Given the description of an element on the screen output the (x, y) to click on. 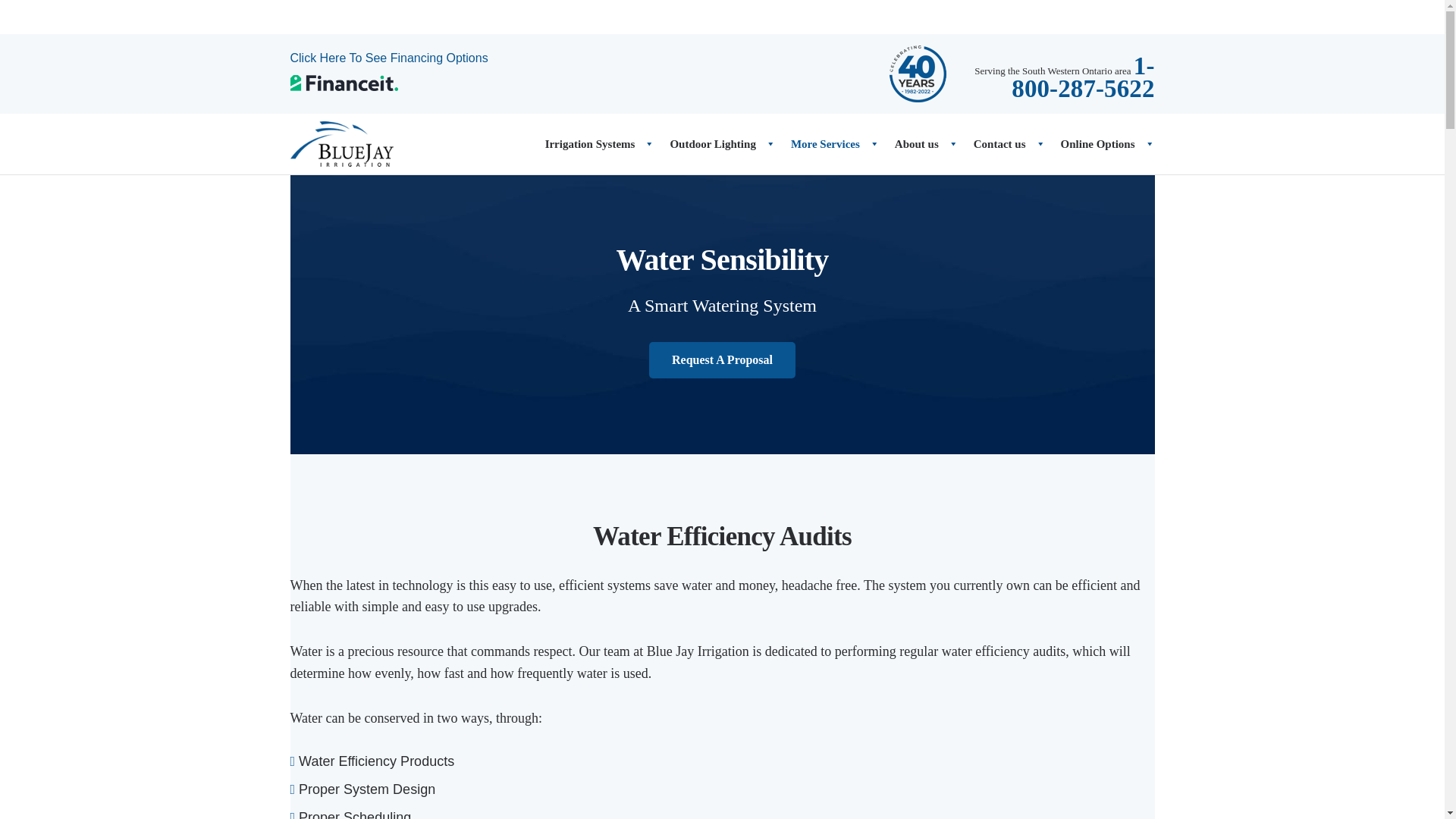
1-800-287-5622 (1082, 82)
Outdoor Lighting (714, 143)
Irrigation Systems (592, 143)
More Services (827, 143)
Click Here To See Financing Options (388, 57)
About us (918, 143)
Request a proposal (721, 360)
